Given the description of an element on the screen output the (x, y) to click on. 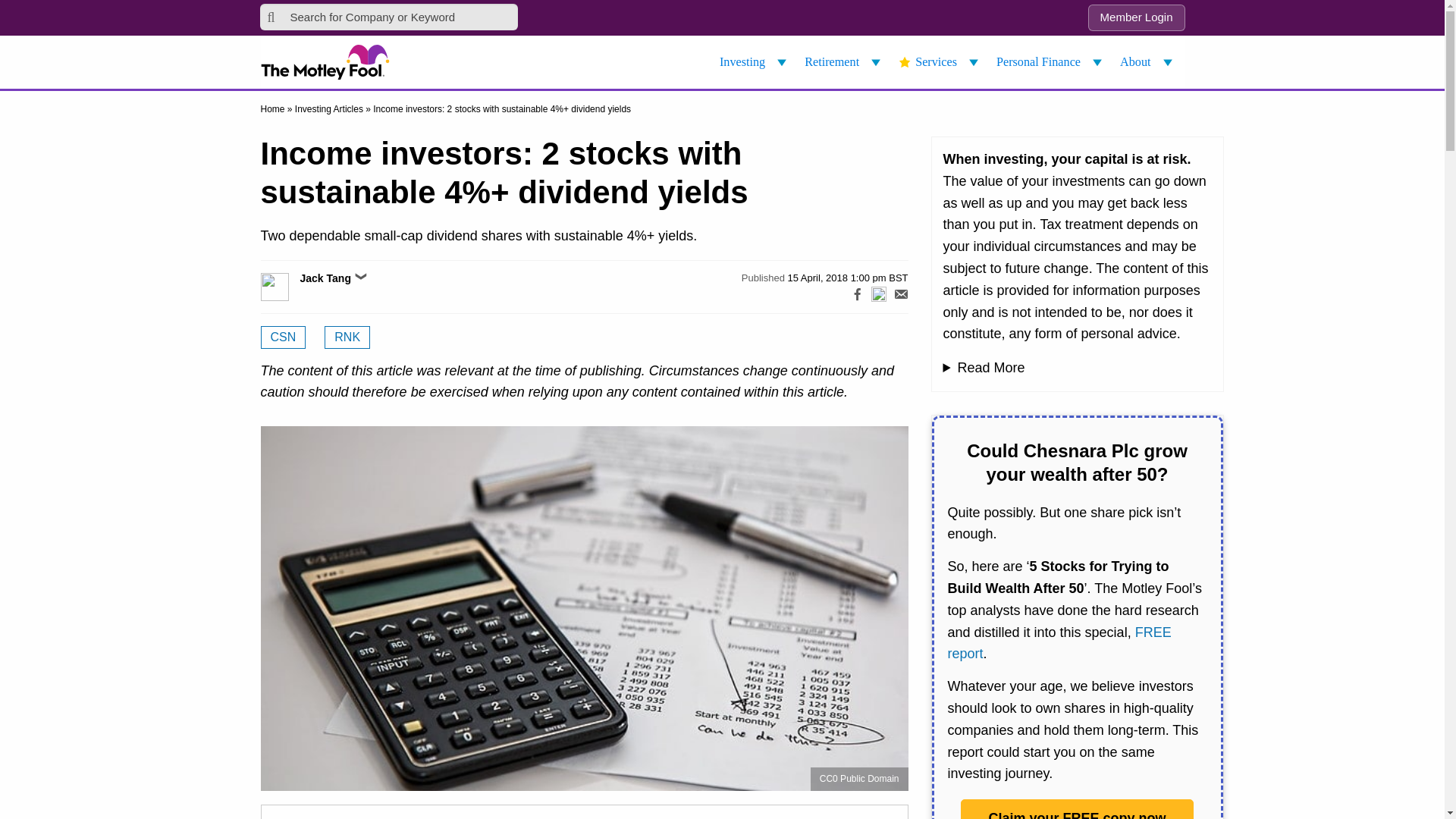
Retirement (844, 62)
Member Login (1136, 17)
Investing (755, 62)
Services (941, 62)
See more articles about RNK (346, 336)
See more articles about CSN (282, 336)
